Given the description of an element on the screen output the (x, y) to click on. 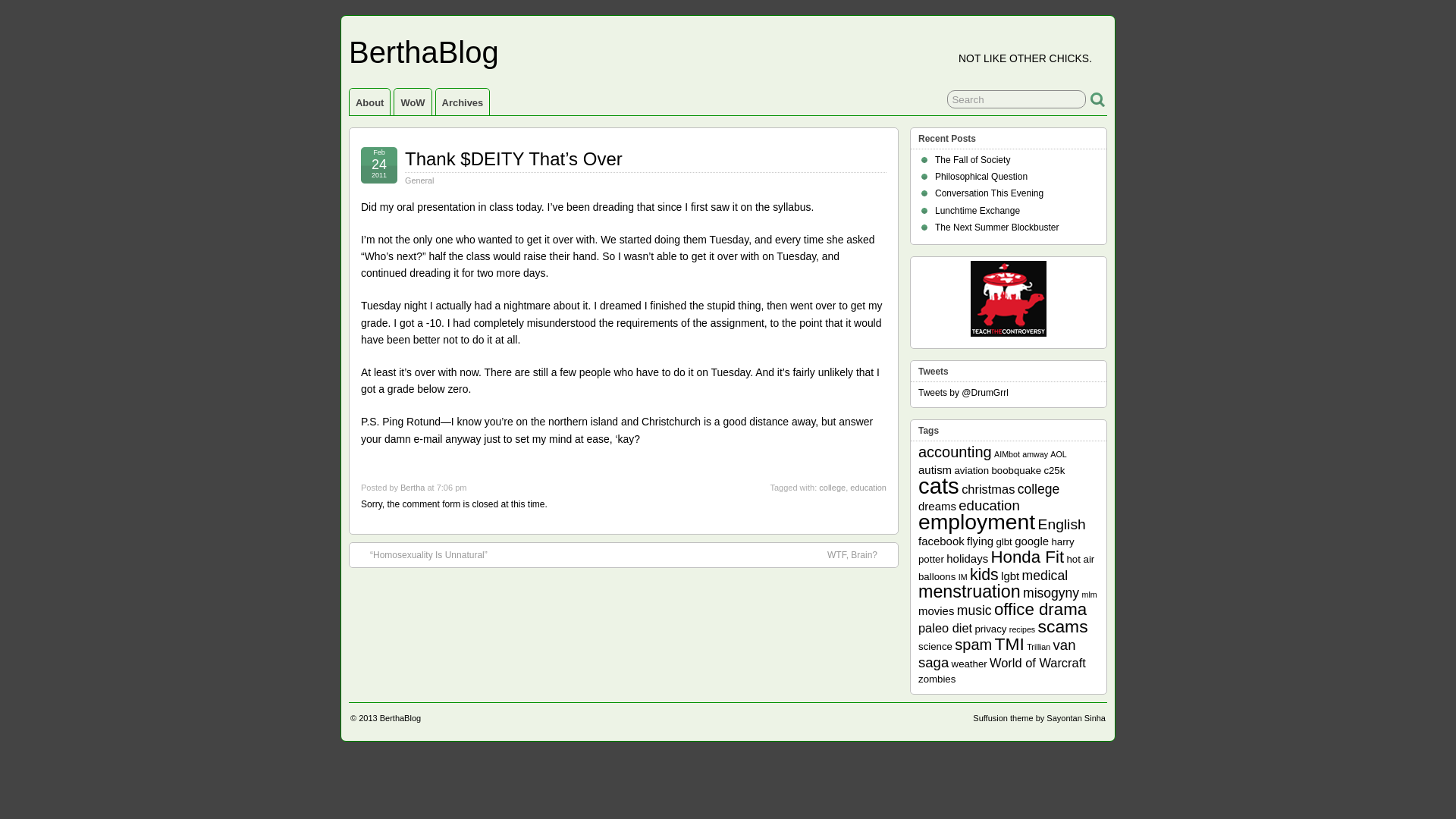
Honda Fit (1027, 556)
harry potter (996, 550)
dreams (937, 505)
AIMbot (1007, 453)
amway (1035, 453)
Search (1016, 99)
About (369, 101)
The Next Summer Blockbuster (996, 226)
c25k (1053, 469)
aviation (970, 469)
